Given the description of an element on the screen output the (x, y) to click on. 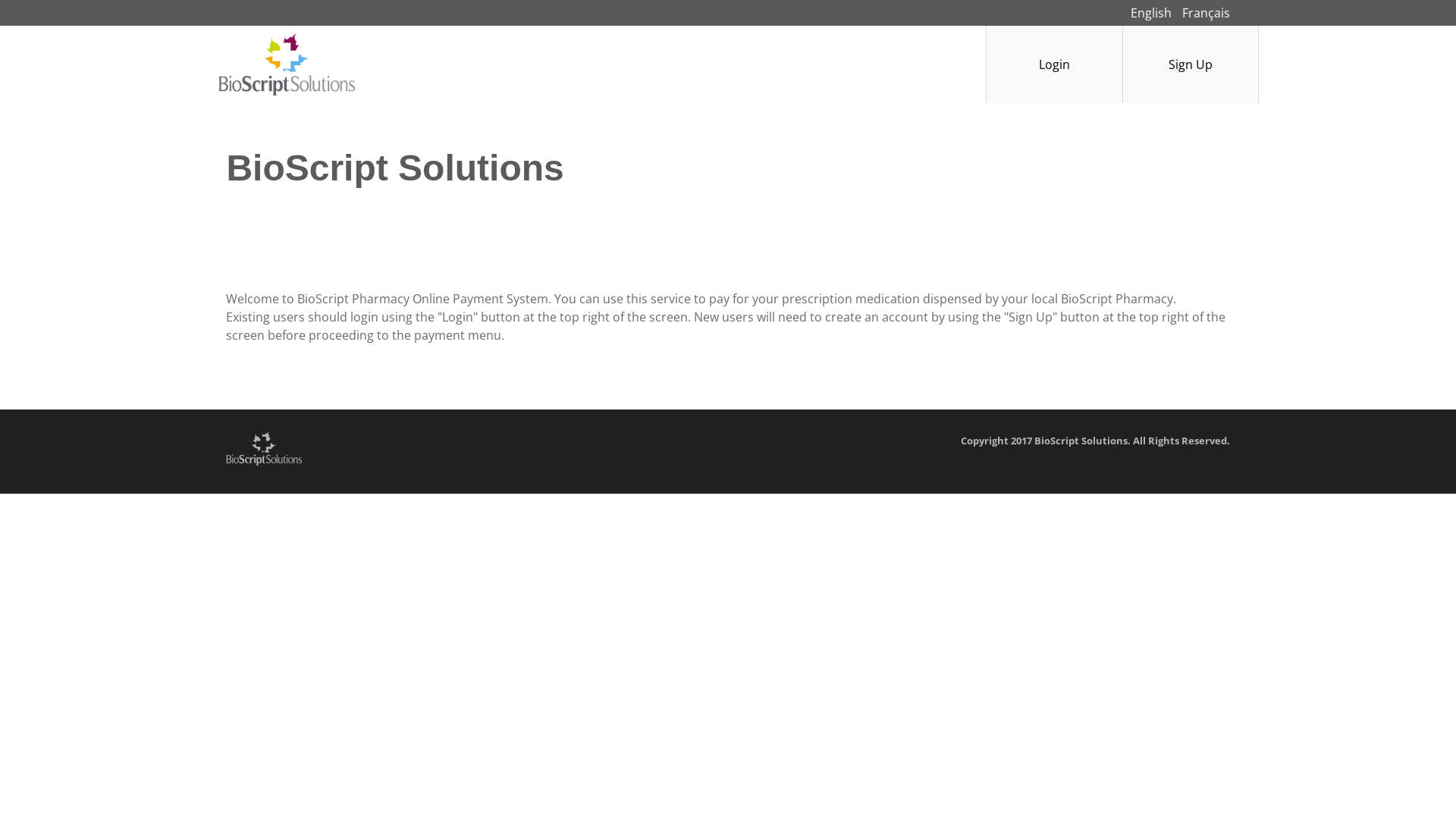
English Element type: text (1150, 12)
Sign Up Element type: text (1190, 64)
Login Element type: text (1054, 64)
Home Element type: hover (275, 64)
